Given the description of an element on the screen output the (x, y) to click on. 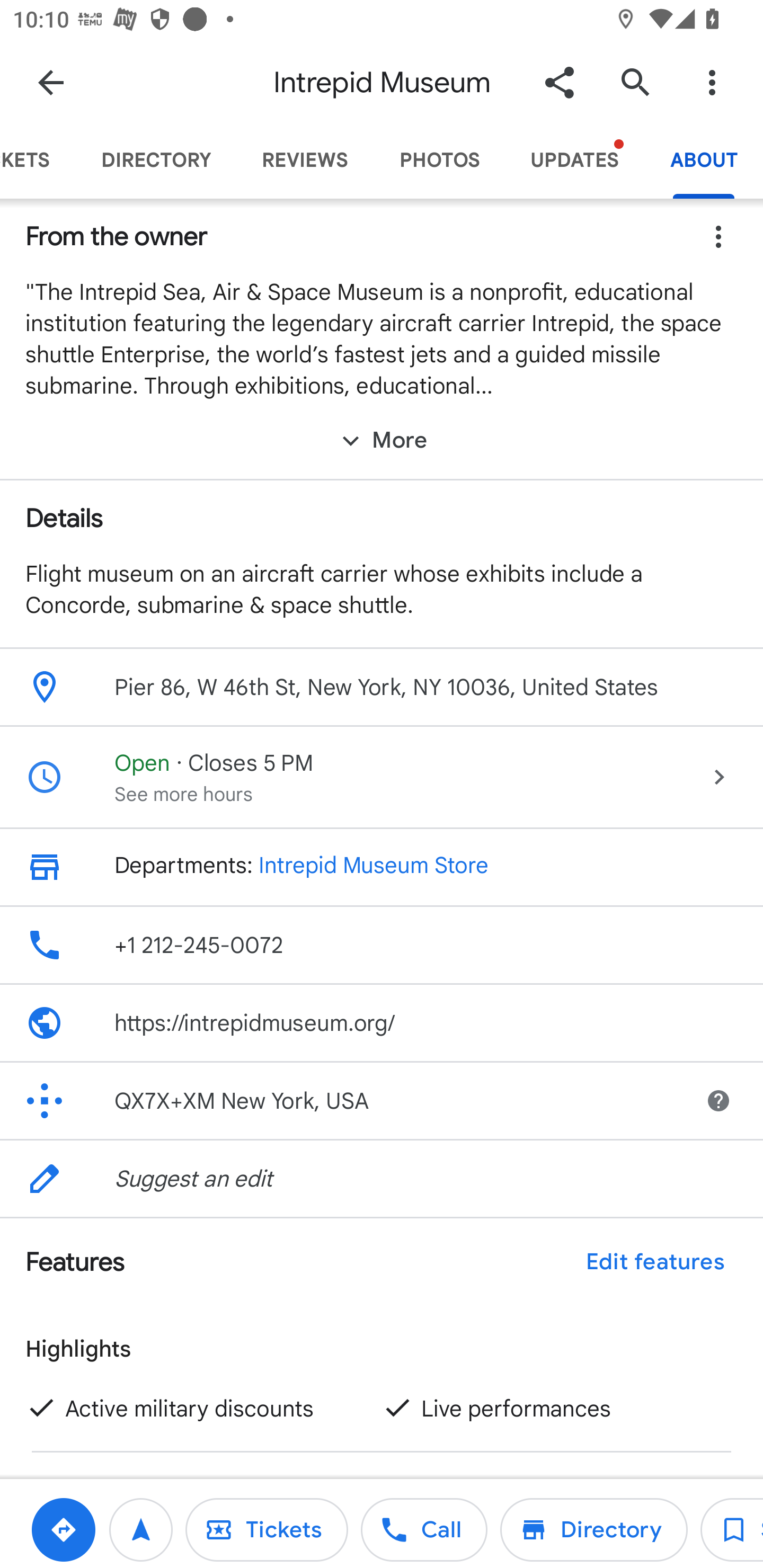
Back to Search (50, 81)
Share (559, 81)
Search (635, 81)
More options for Intrepid Museum (711, 81)
TICKETS Tickets (37, 160)
DIRECTORY Directory (155, 160)
REVIEWS Reviews (304, 160)
PHOTOS Photos (439, 160)
UPDATES Updates New updates in Updates (574, 160)
More options for Intrepid Museum description (718, 236)
More (381, 440)
See more deparments (57, 866)
Phone Number: +1 212-245-0072 +1 212-245-0072 (381, 944)
QX7X+XM New York, USA (340, 1100)
Suggest an edit (381, 1177)
Edit features (654, 1261)
Directions to Intrepid Museum, Pier 86, W 46th St (63, 1529)
Start (141, 1529)
Tickets (266, 1529)
Directory Directory Directory (593, 1529)
